Given the description of an element on the screen output the (x, y) to click on. 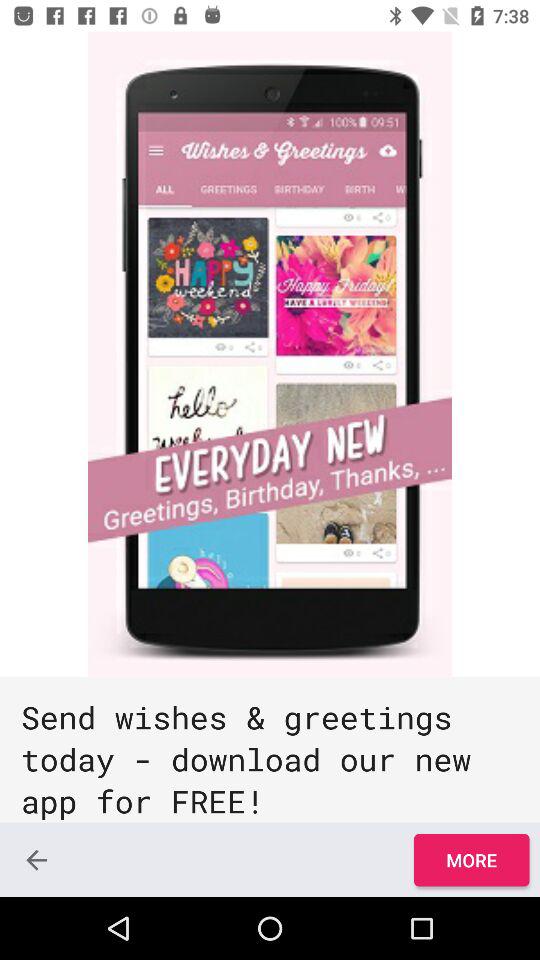
tap more (471, 859)
